Given the description of an element on the screen output the (x, y) to click on. 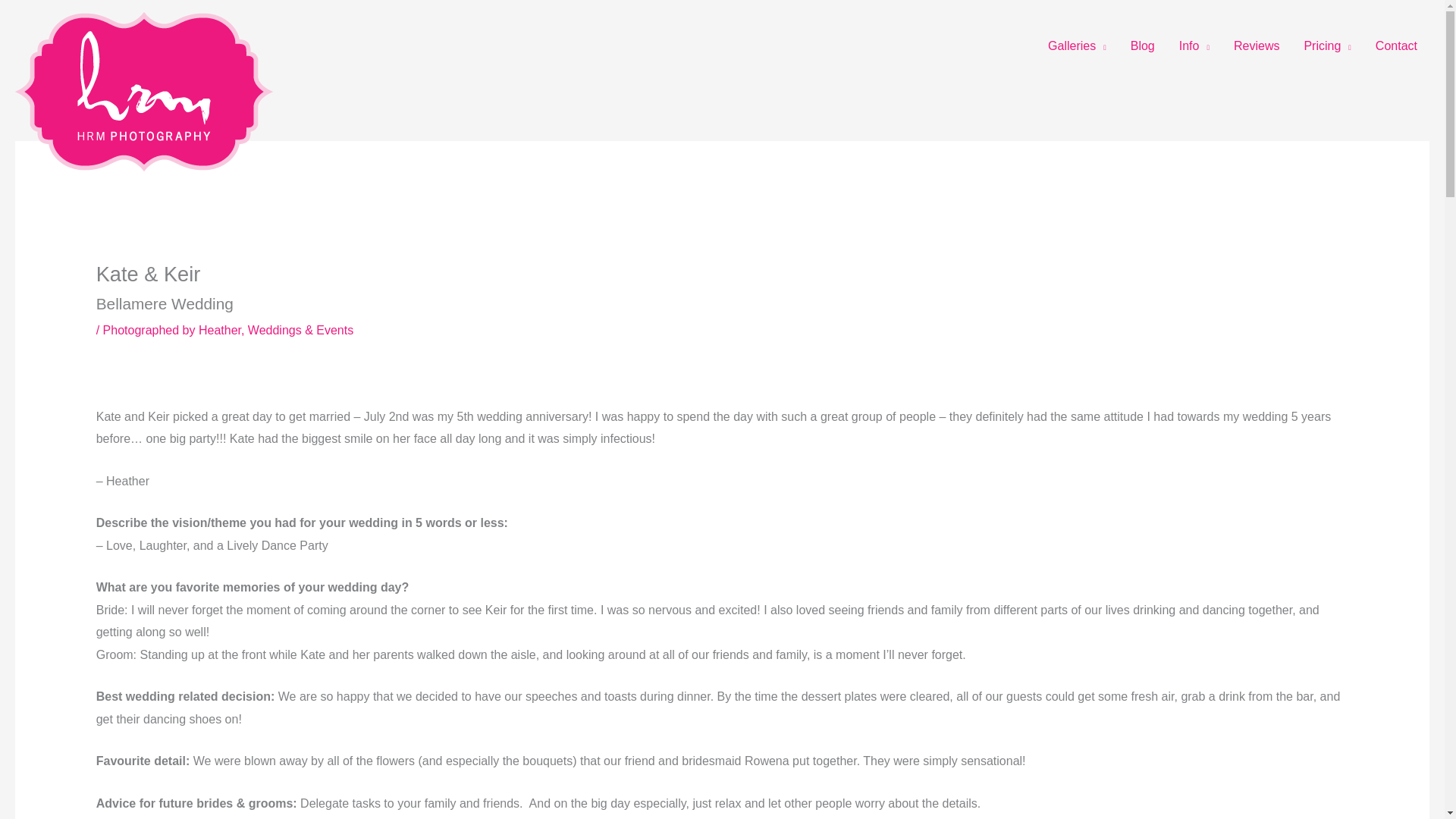
Blog (1142, 46)
Info (1194, 46)
Pricing (1326, 46)
Reviews (1256, 46)
Galleries (1076, 46)
